Given the description of an element on the screen output the (x, y) to click on. 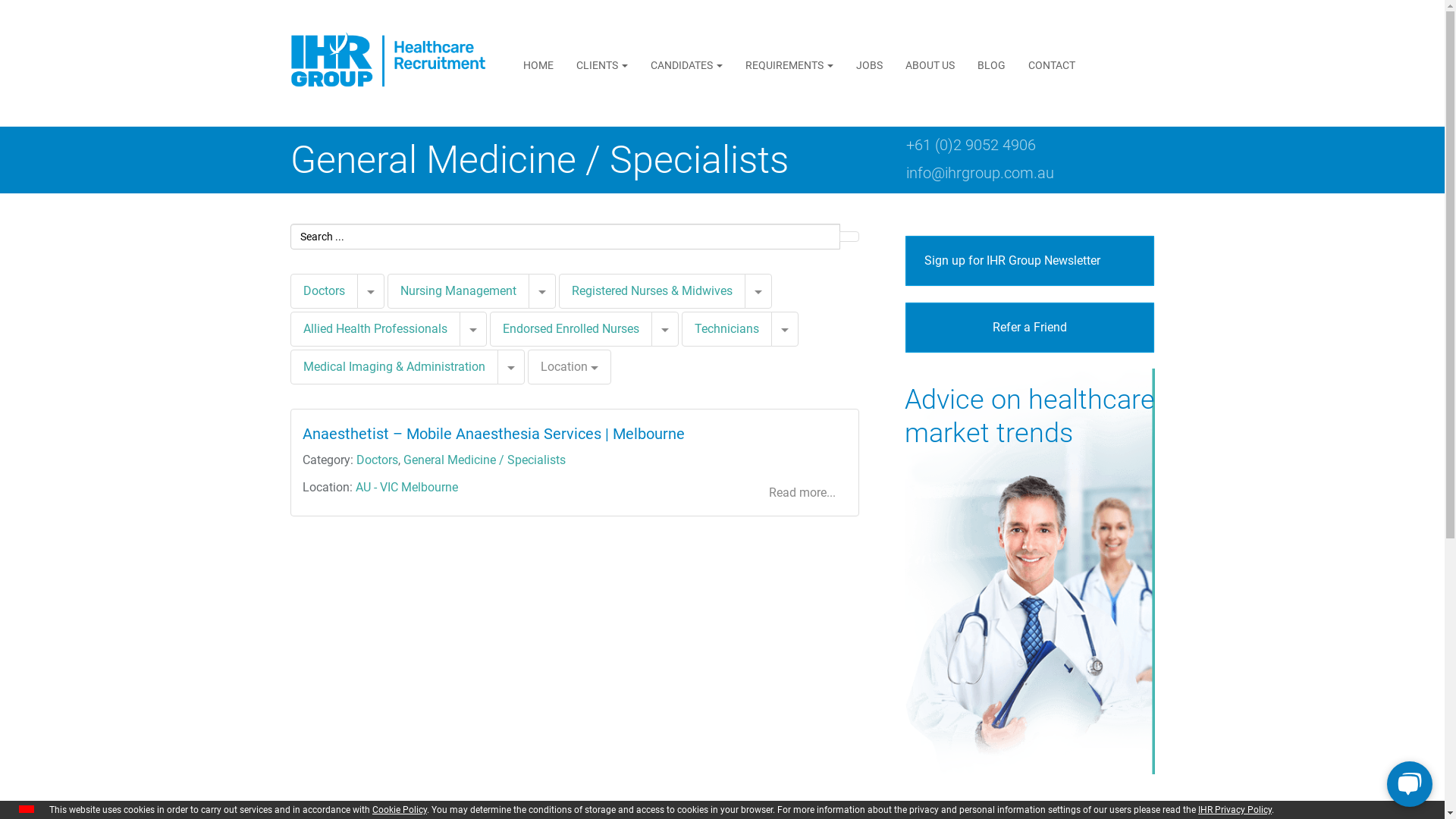
Toggle Dropdown Element type: text (369, 290)
Toggle Dropdown Element type: text (663, 328)
Refer a Friend Element type: text (1029, 327)
Zamknij okno Element type: hover (26, 808)
Doctors Element type: text (377, 459)
Endorsed Enrolled Nurses Element type: text (570, 328)
Medical Imaging & Administration Element type: text (394, 366)
CONTACT Element type: text (1051, 64)
REQUIREMENTS Element type: text (789, 64)
Allied Health Professionals Element type: text (374, 328)
Medical Imaging & Administration Element type: text (393, 366)
Doctors Element type: text (324, 290)
info@ihrgroup.com.au Element type: text (979, 172)
Registered Nurses & Midwives Element type: text (651, 290)
+61 (0)2 9052 4906 Element type: text (970, 144)
CLIENTS Element type: text (601, 64)
Toggle Dropdown Element type: text (510, 366)
Allied Health Professionals Element type: text (375, 328)
Doctors Element type: text (323, 290)
JOBS Element type: text (869, 64)
HOME Element type: text (537, 64)
Registered Nurses & Midwives Element type: text (651, 290)
Nursing Management Element type: text (457, 290)
CANDIDATES Element type: text (686, 64)
IHR Privacy Policy Element type: text (1234, 809)
AU - VIC Melbourne Element type: text (405, 487)
BLOG Element type: text (991, 64)
Toggle Dropdown Element type: text (472, 328)
Toggle Dropdown Element type: text (757, 290)
Read more... Element type: text (802, 492)
Toggle Dropdown Element type: text (541, 290)
Toggle Dropdown Element type: text (783, 328)
Cookie Policy Element type: text (399, 809)
Technicians Element type: text (725, 328)
Nursing Management Element type: text (458, 290)
ABOUT US Element type: text (930, 64)
General Medicine / Specialists Element type: text (484, 459)
Location Element type: text (569, 366)
Technicians Element type: text (726, 328)
Endorsed Enrolled Nurses Element type: text (570, 328)
